Given the description of an element on the screen output the (x, y) to click on. 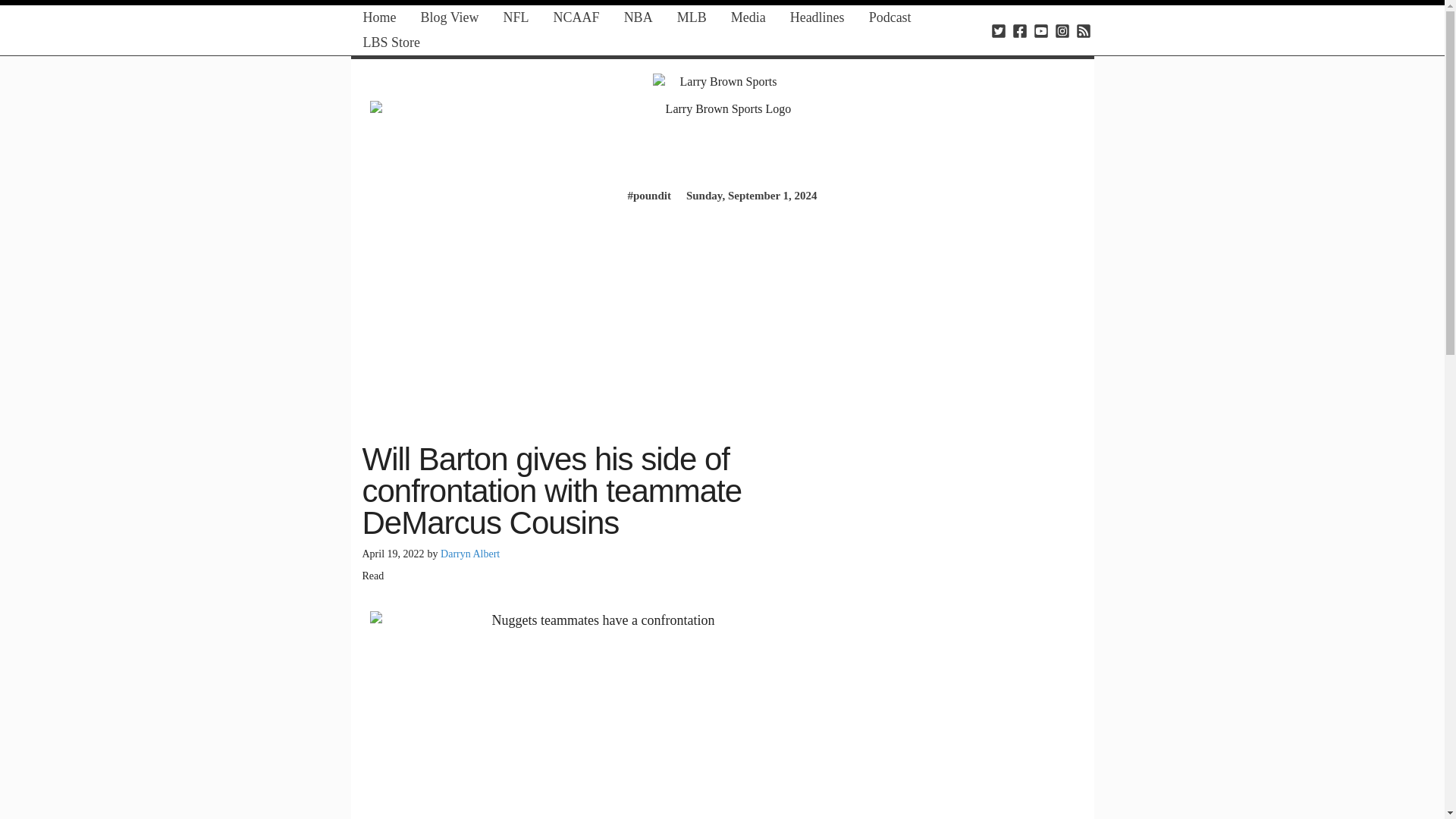
LBS Store (391, 42)
Media (748, 17)
Darryn Albert (470, 553)
Subscribe to Larry Brown Sports RSS Feed (1082, 29)
Headlines (817, 17)
MLB (692, 17)
View Larry Brown Sports Instagram (1061, 29)
View Larry Brown Sports Youtube (1040, 29)
Blog View (448, 17)
View Larry Brown Sports Twitter (998, 29)
